Given the description of an element on the screen output the (x, y) to click on. 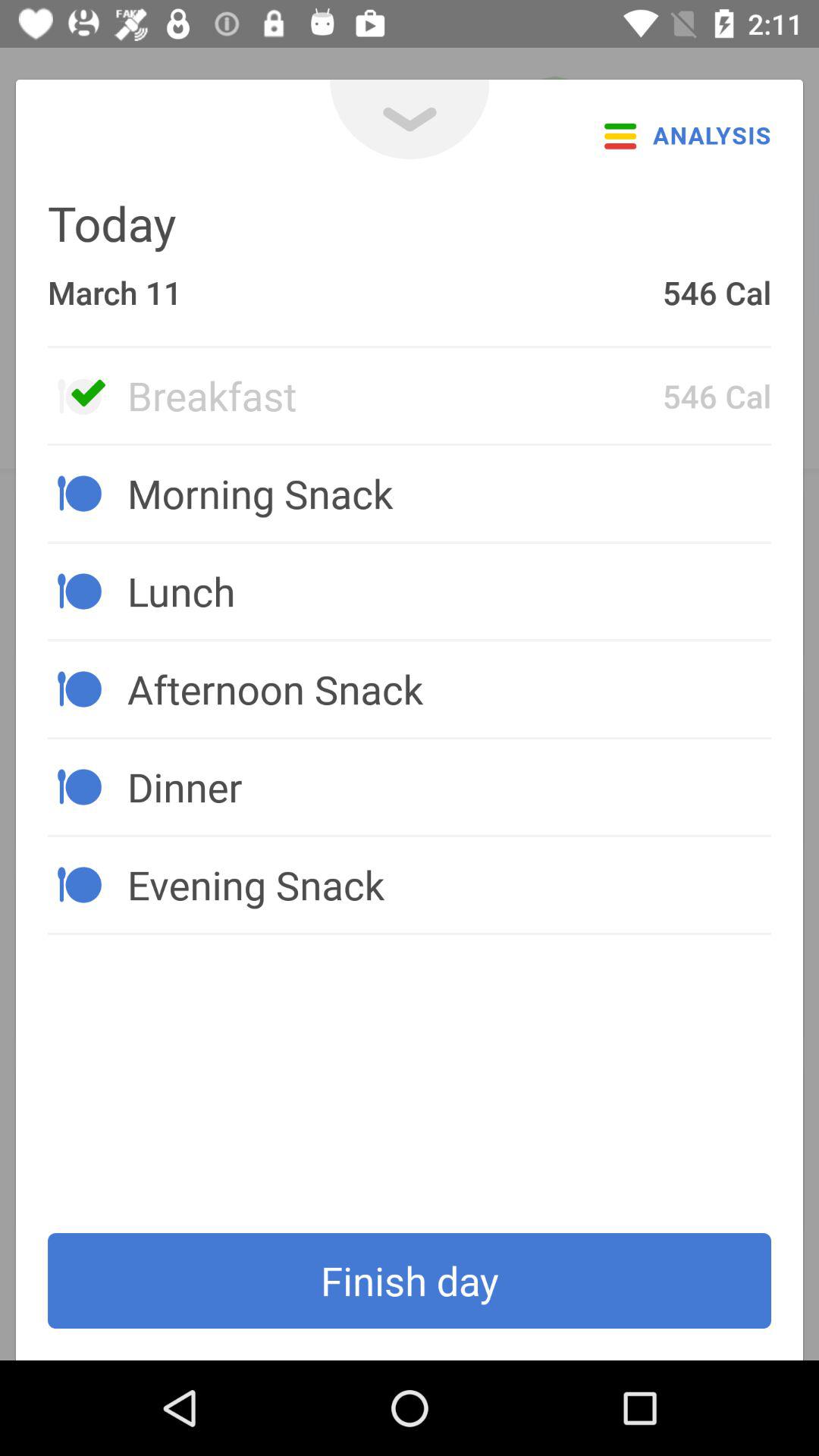
swipe to lunch item (449, 590)
